Given the description of an element on the screen output the (x, y) to click on. 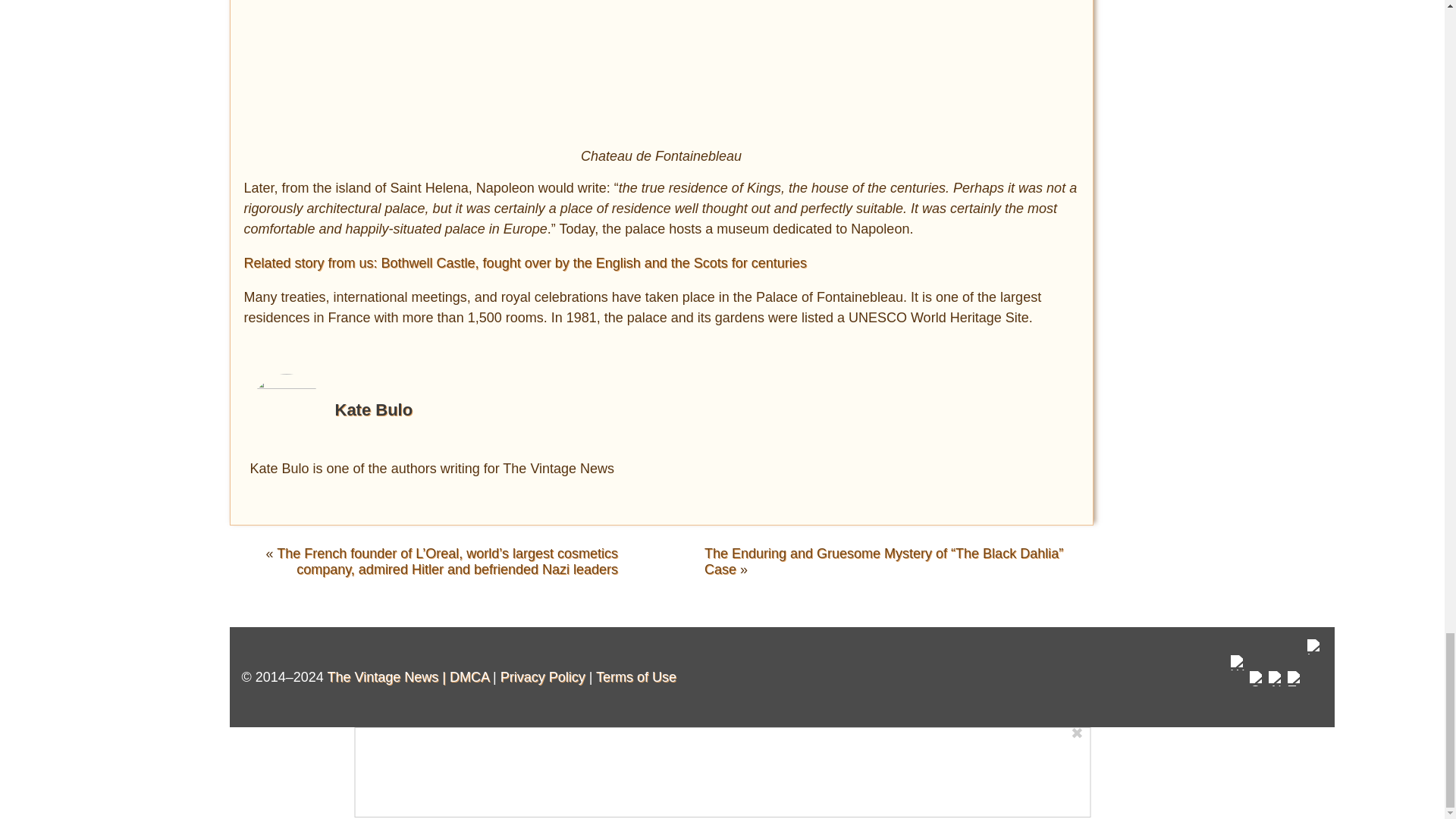
Abandoned Spaces (1276, 692)
I Love WWII Planes (1314, 676)
Outdoor Revival (1257, 692)
Tank Roar (1295, 692)
War History Online (1238, 684)
